Given the description of an element on the screen output the (x, y) to click on. 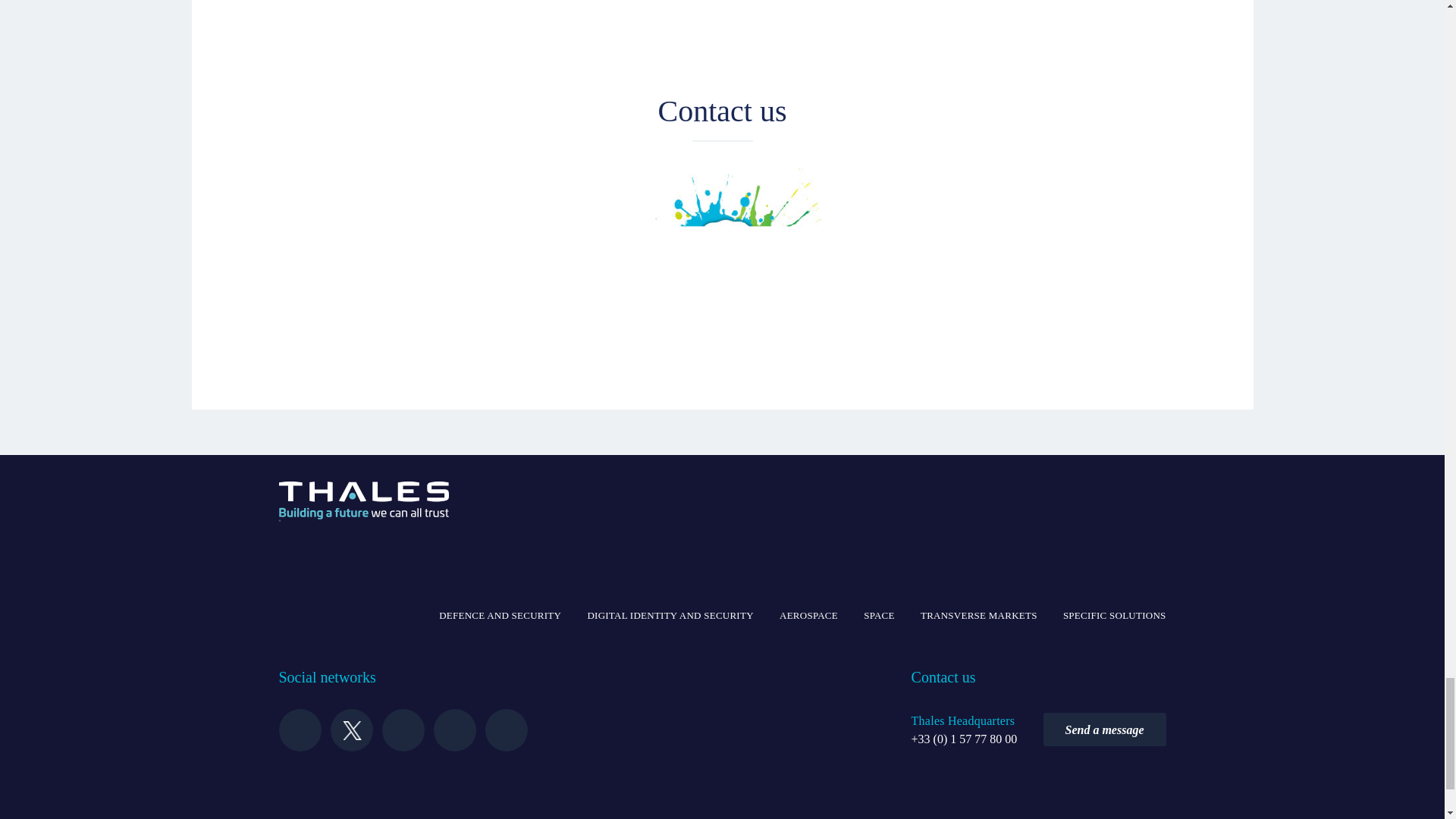
DIGITAL IDENTITY AND SECURITY (669, 615)
SPACE (879, 615)
DEFENCE AND SECURITY (499, 615)
TRANSVERSE MARKETS (978, 615)
AEROSPACE (808, 615)
